Given the description of an element on the screen output the (x, y) to click on. 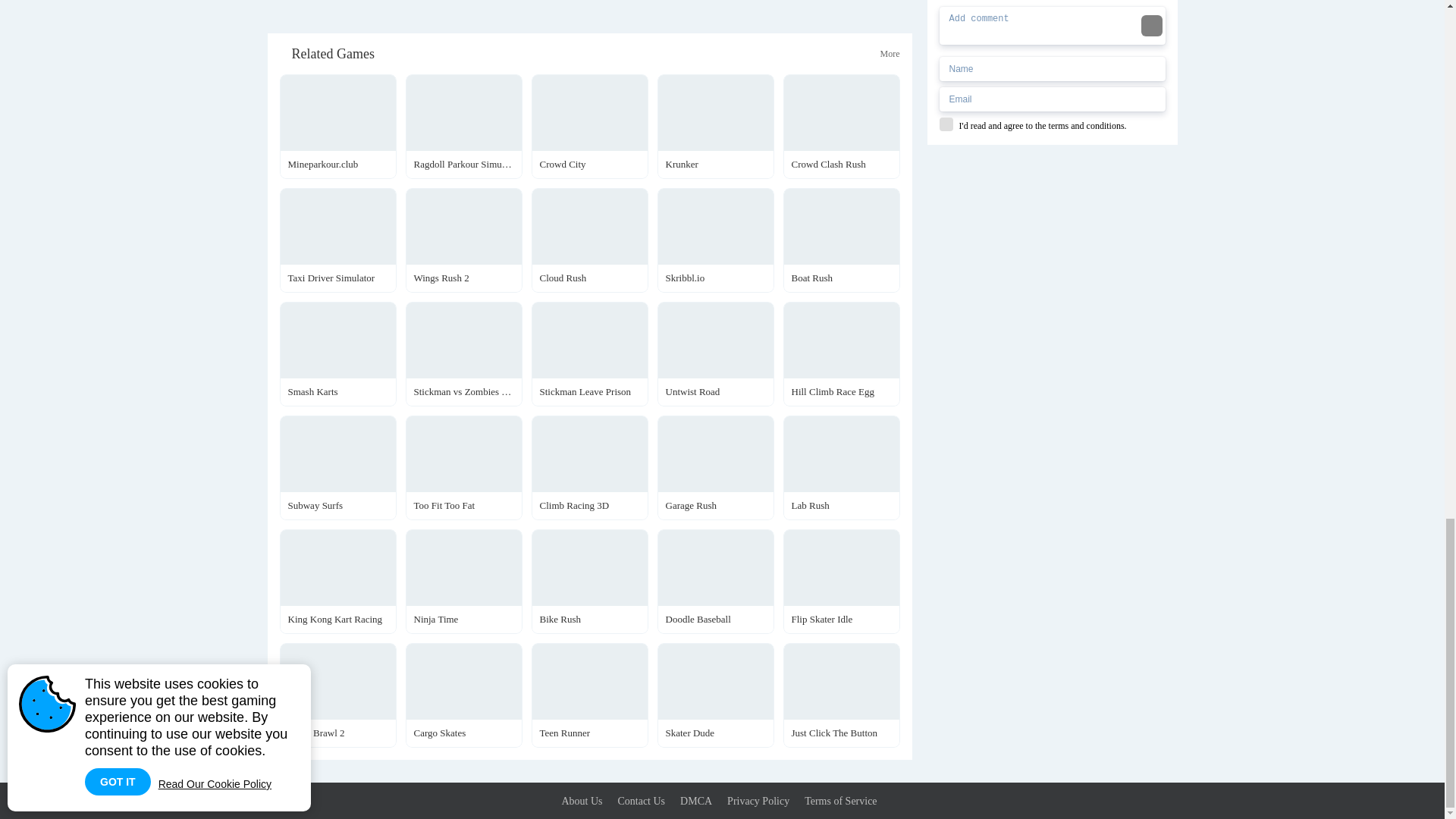
Ragdoll Parkour Simulator (462, 126)
Mineparkour.club (337, 126)
More (889, 53)
Crowd City (589, 126)
Untwist Road (714, 354)
Wings Rush 2 (462, 240)
Skribbl.io (714, 240)
Cloud Rush (589, 240)
Boat Rush (841, 240)
Subway Surfs (337, 467)
